Given the description of an element on the screen output the (x, y) to click on. 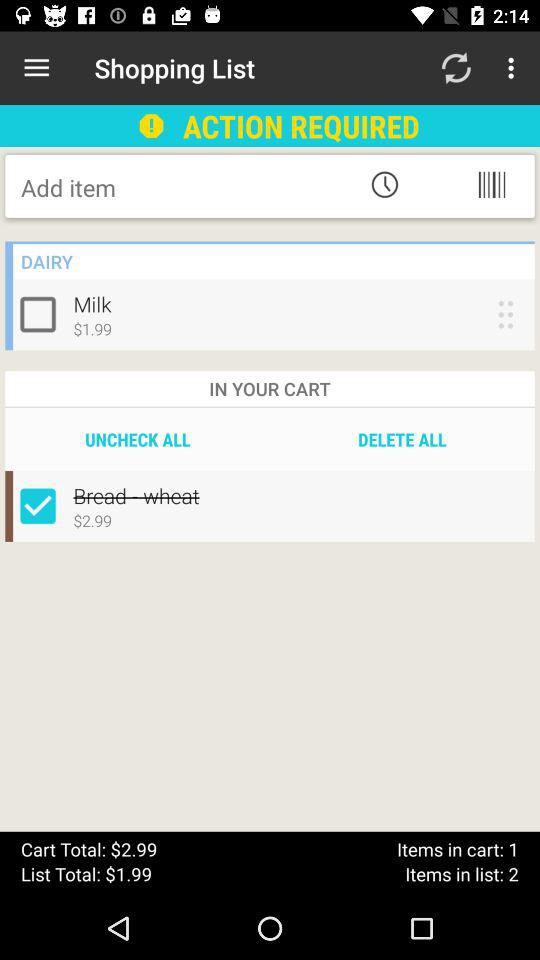
check option (41, 314)
